Given the description of an element on the screen output the (x, y) to click on. 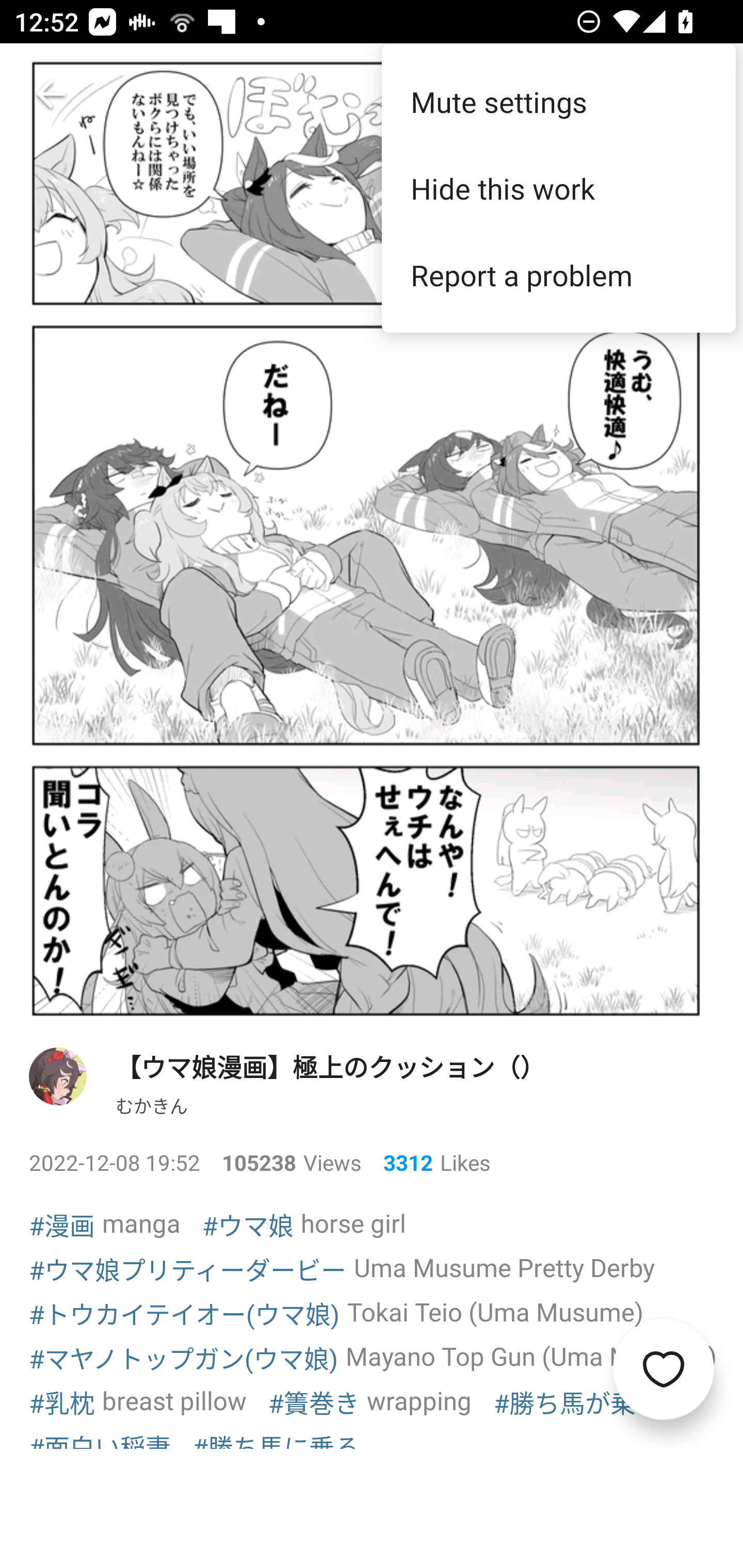
Mute settings (558, 101)
Hide this work (558, 188)
Report a problem (558, 275)
